Given the description of an element on the screen output the (x, y) to click on. 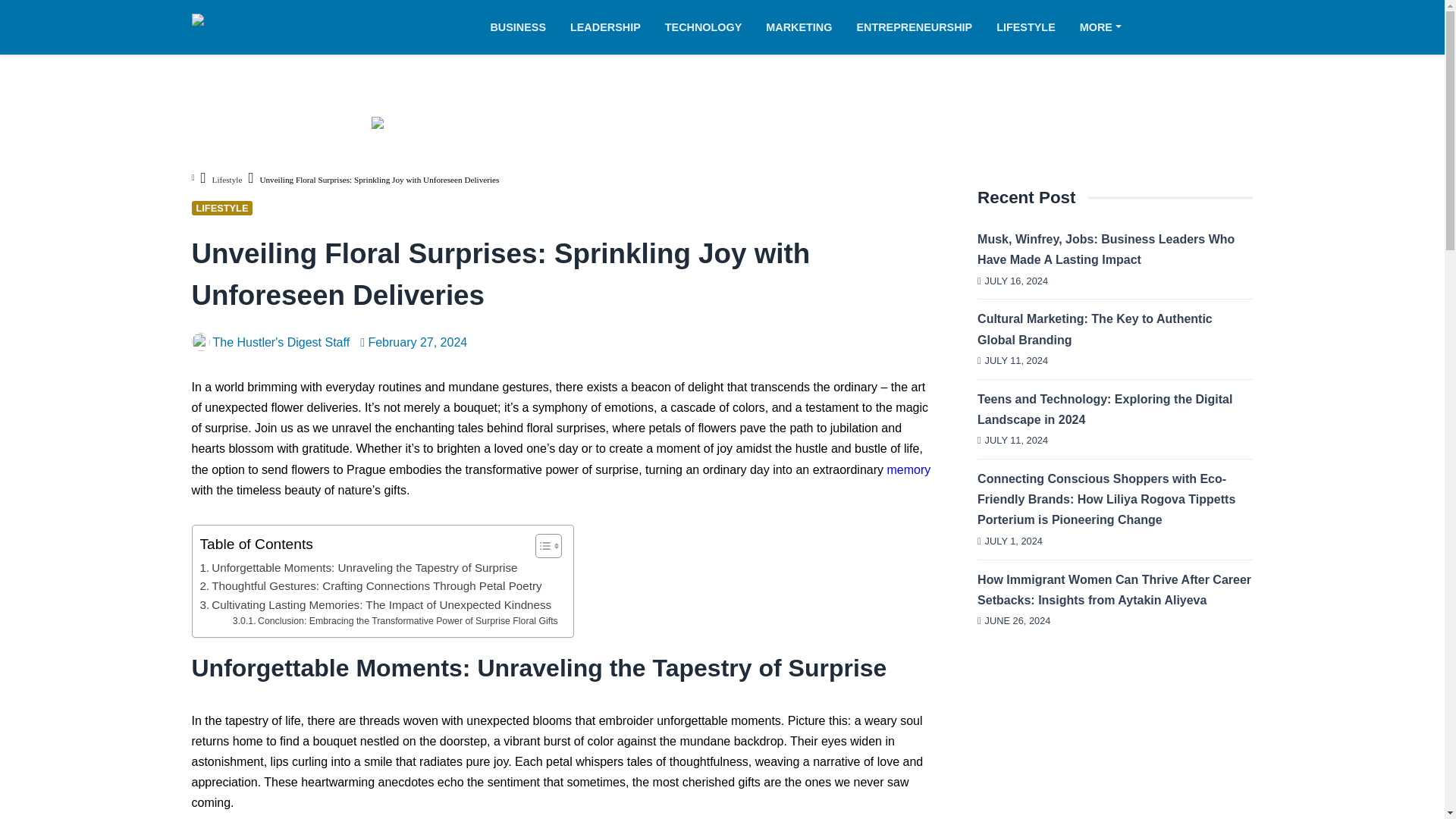
The Hustler's Digest Staff (269, 341)
ENTREPRENEURSHIP (914, 27)
BUSINESS (523, 27)
LIFESTYLE (220, 207)
February 27, 2024 (413, 341)
Unforgettable Moments: Unraveling the Tapestry of Surprise (359, 567)
MORE (1094, 27)
memory (908, 469)
Unforgettable Moments: Unraveling the Tapestry of Surprise (359, 567)
